Given the description of an element on the screen output the (x, y) to click on. 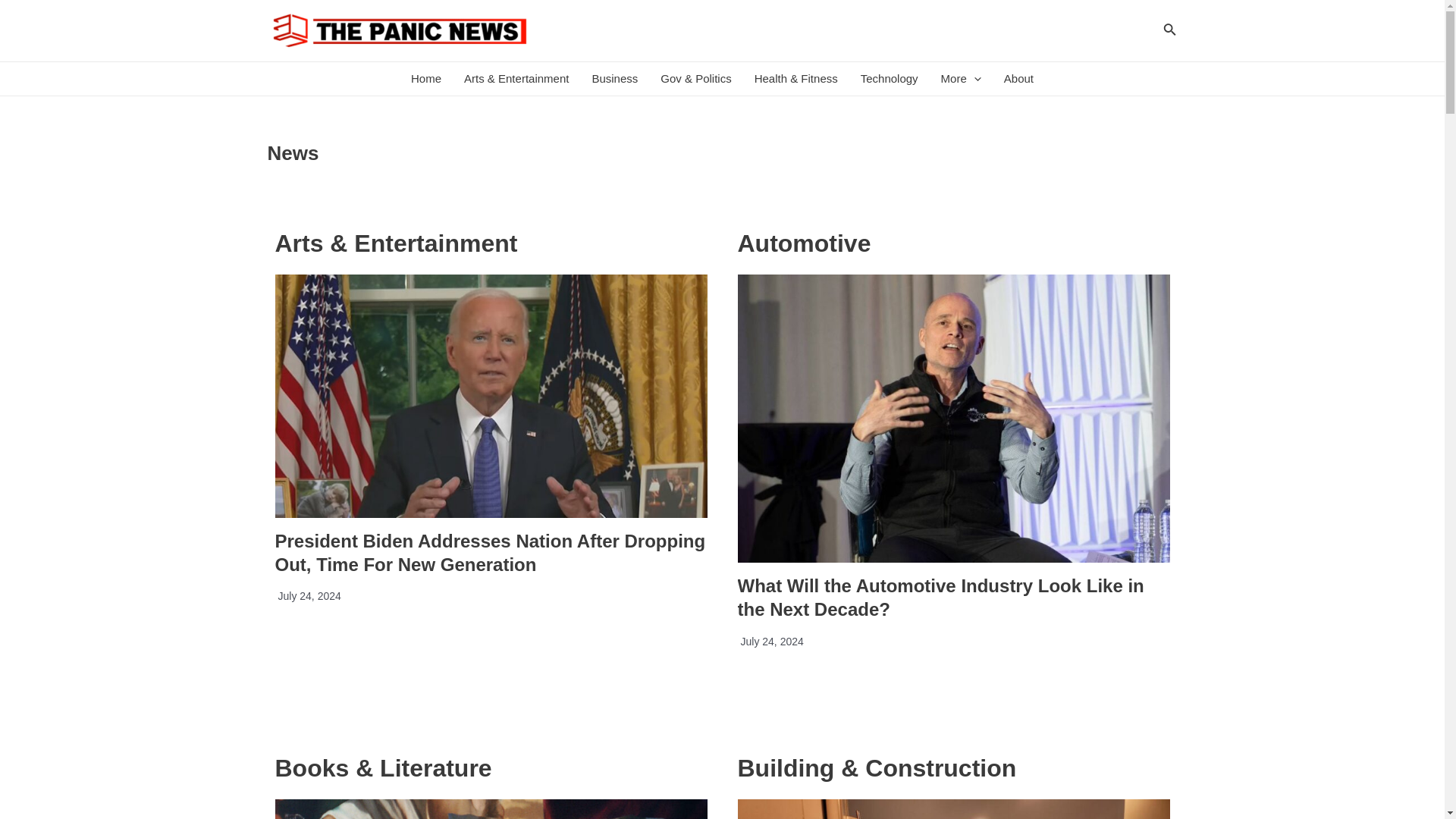
Technology (889, 78)
Home (425, 78)
Business (614, 78)
More (961, 78)
About (1018, 78)
